Given the description of an element on the screen output the (x, y) to click on. 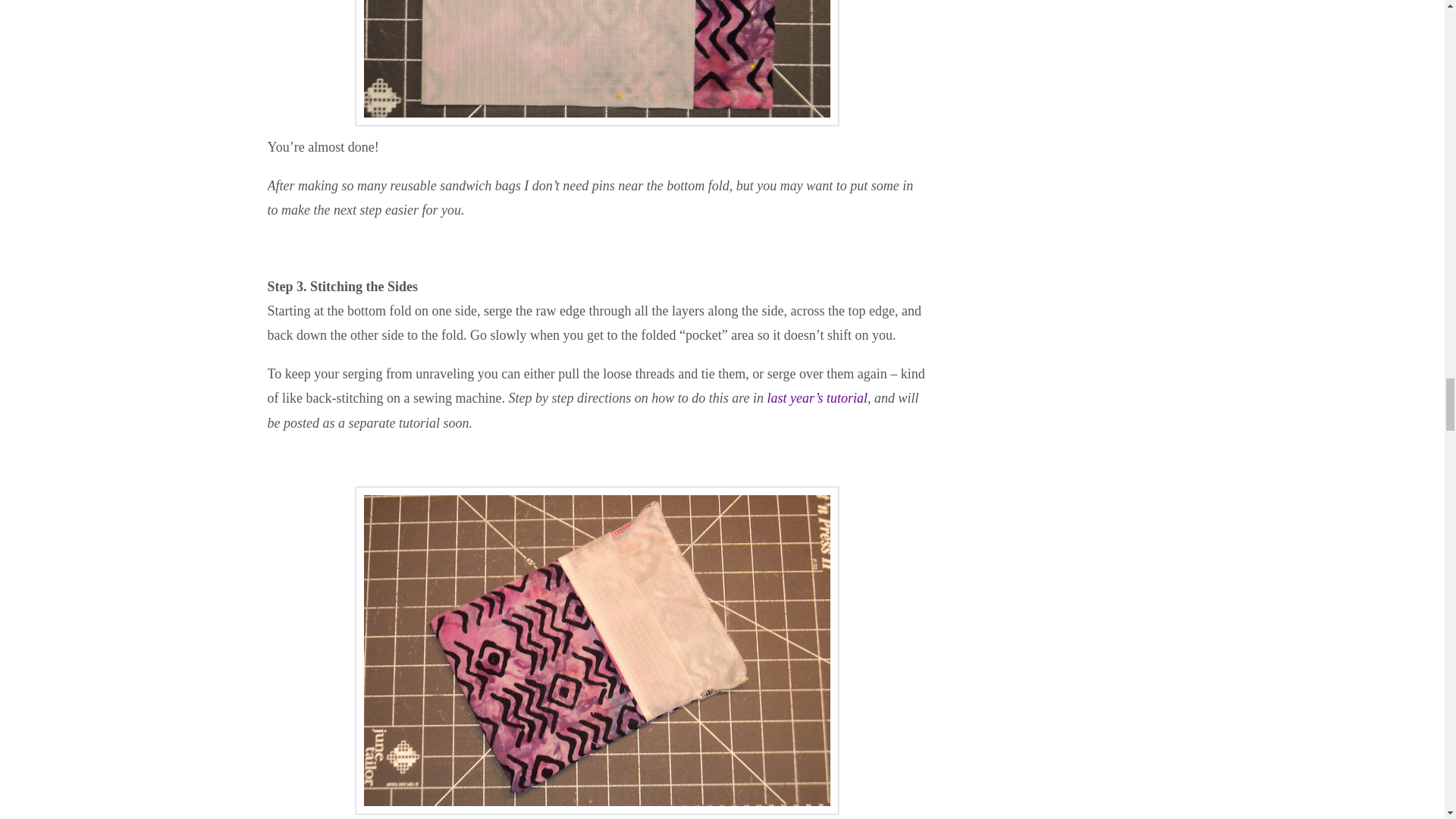
Make a Reusable Snack Bag (817, 397)
